Given the description of an element on the screen output the (x, y) to click on. 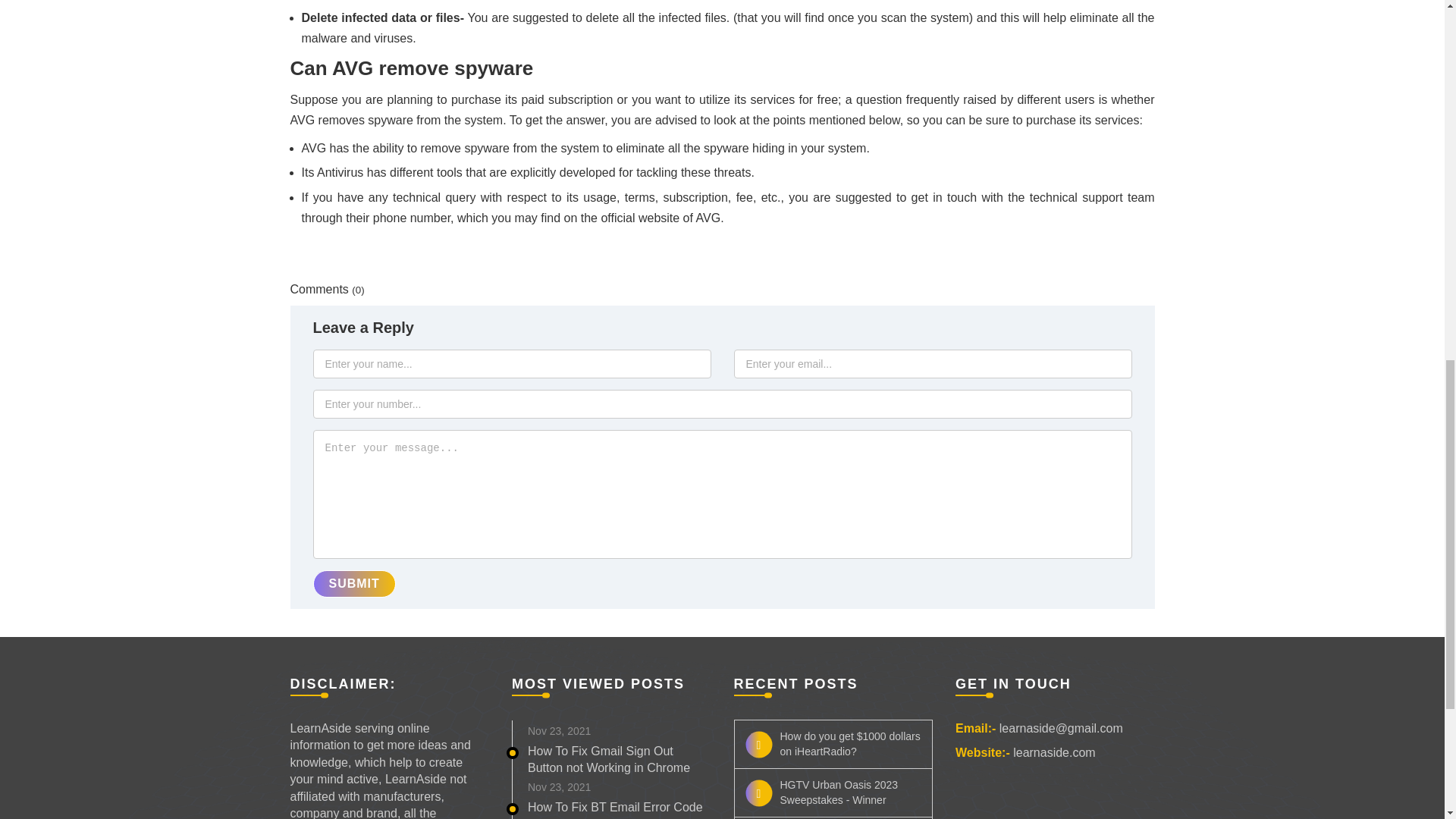
Why am I not Getting my Comcast Emails on my Phone? (833, 817)
How To Fix BT Email Error Code 10007 (615, 809)
SUBMIT (545, 638)
HGTV Urban Oasis 2023 Sweepstakes - Winner (833, 792)
learnaside.com (1054, 752)
How To Fix Gmail Sign Out Button not Working in Chrome (608, 758)
SUBMIT (353, 583)
